Given the description of an element on the screen output the (x, y) to click on. 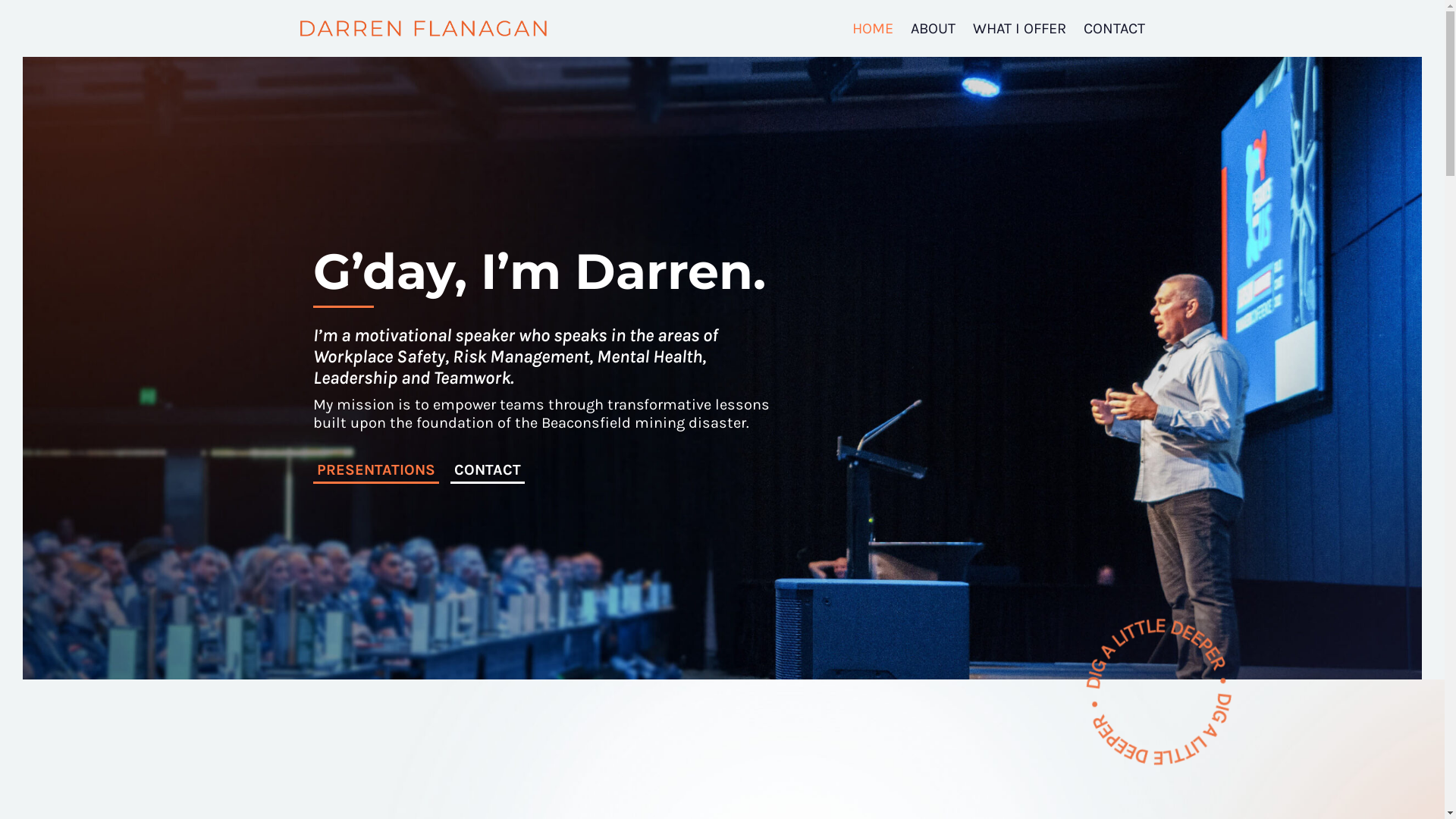
HOME Element type: text (872, 28)
WHAT I OFFER Element type: text (1019, 28)
CONTACT Element type: text (1114, 28)
PRESENTATIONS Element type: text (375, 470)
CONTACT Element type: text (487, 470)
ABOUT Element type: text (933, 28)
